Given the description of an element on the screen output the (x, y) to click on. 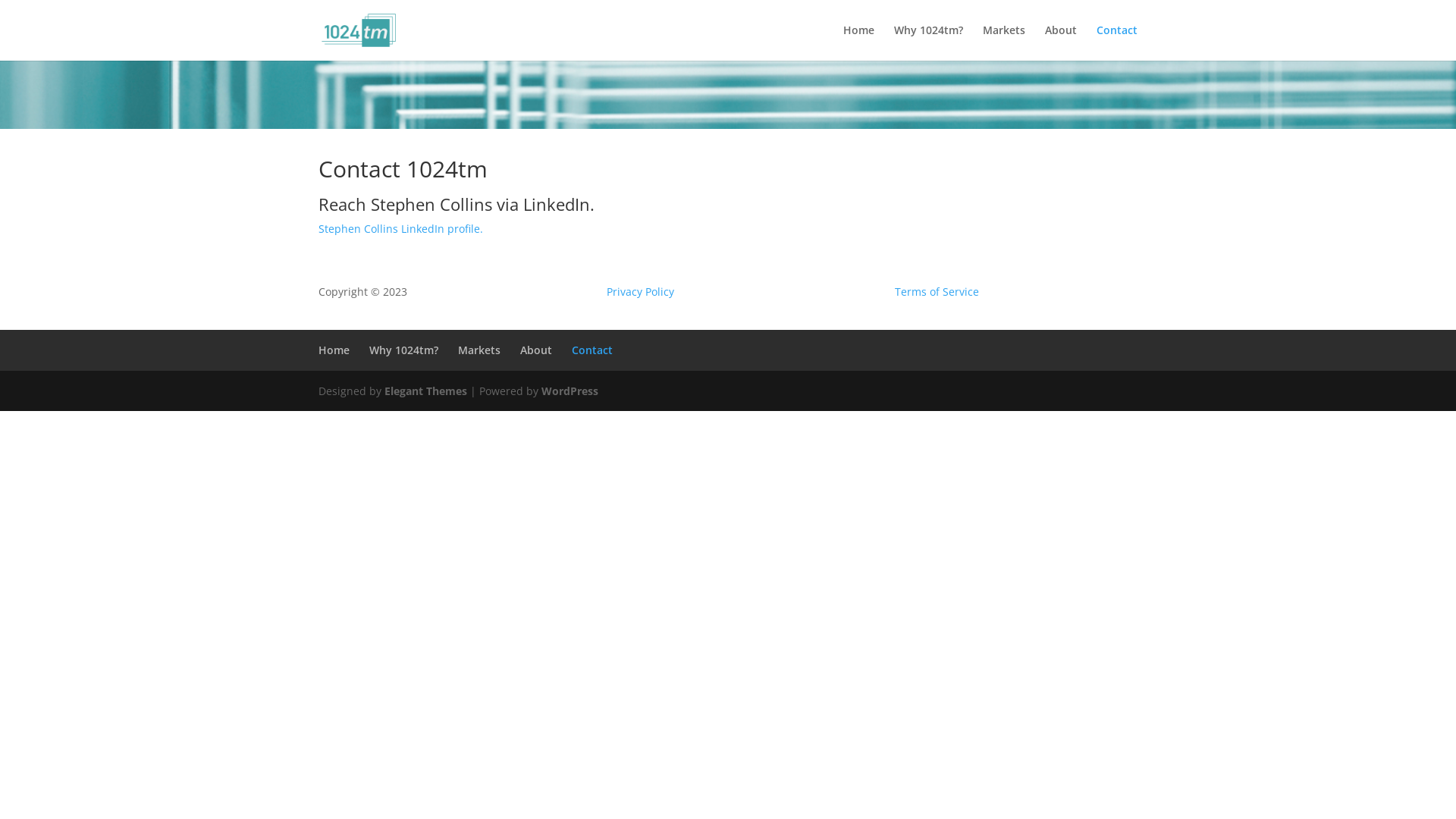
Terms of Service Element type: text (936, 291)
Markets Element type: text (1003, 42)
Why 1024tm? Element type: text (928, 42)
About Element type: text (1060, 42)
Home Element type: text (333, 349)
Elegant Themes Element type: text (425, 390)
Contact Element type: text (1116, 42)
Stephen Collins LinkedIn profile. Element type: text (400, 228)
About Element type: text (536, 349)
Home Element type: text (858, 42)
WordPress Element type: text (569, 390)
Markets Element type: text (479, 349)
Why 1024tm? Element type: text (403, 349)
Contact Element type: text (591, 349)
Privacy Policy Element type: text (640, 291)
